Given the description of an element on the screen output the (x, y) to click on. 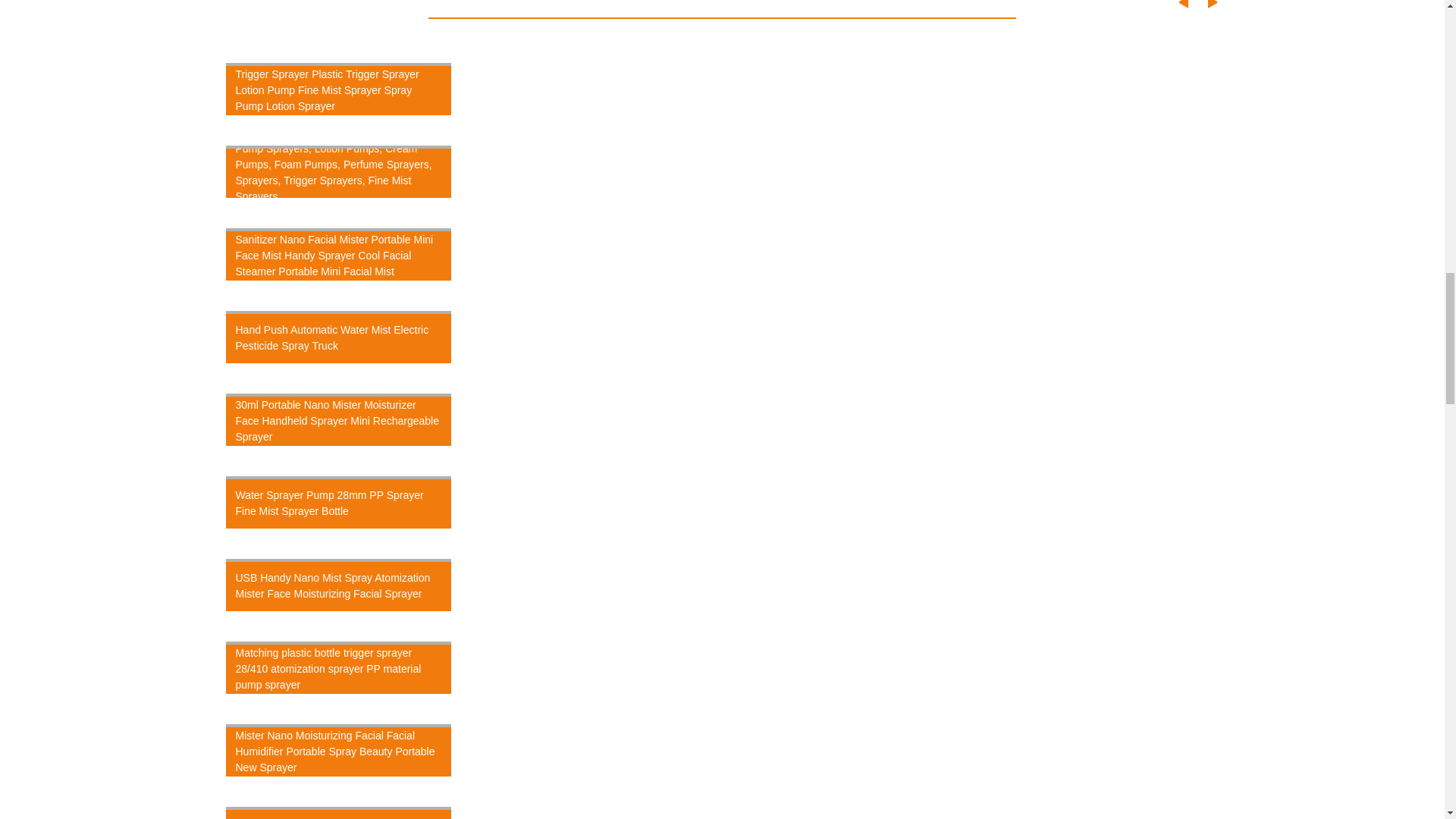
Water Sprayer Pump 28mm PP Sprayer Fine Mist Sprayer Bottle (339, 502)
